Given the description of an element on the screen output the (x, y) to click on. 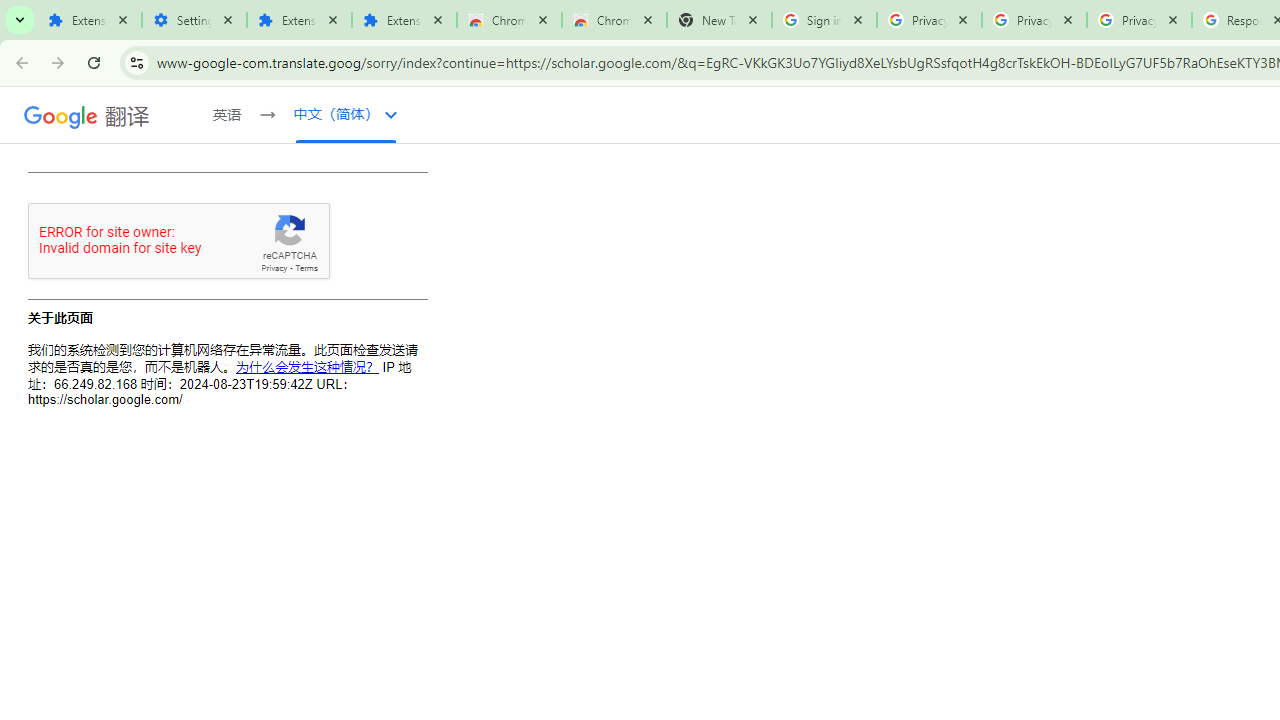
New Tab (718, 20)
Chrome Web Store - Themes (613, 20)
Extensions (404, 20)
Extensions (299, 20)
